Given the description of an element on the screen output the (x, y) to click on. 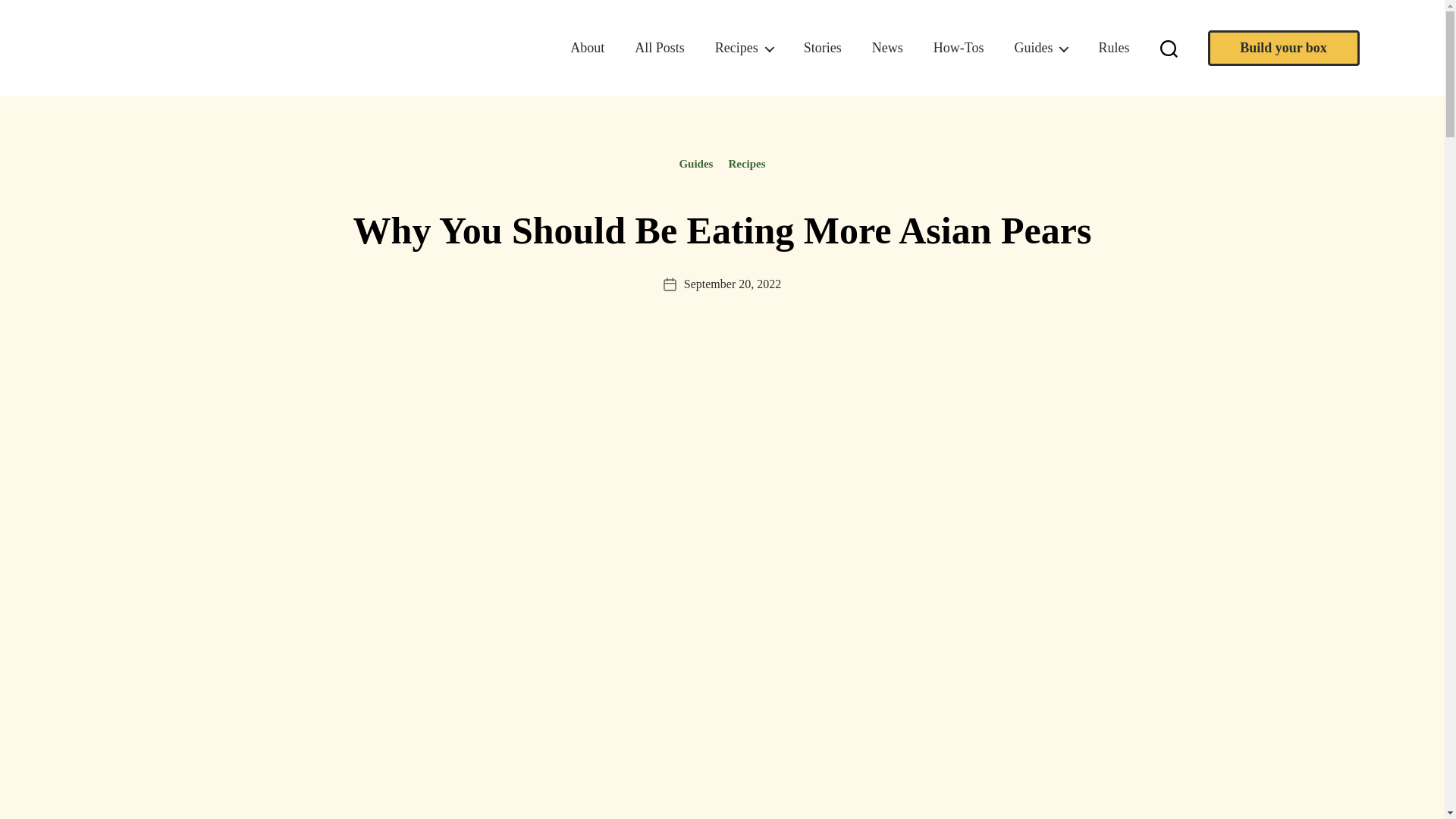
Rules (1113, 48)
logo (164, 48)
Stories (822, 48)
Build your box (1282, 48)
How-Tos (958, 48)
About (587, 48)
All Posts (659, 48)
Recipes (743, 48)
Guides (1040, 48)
News (887, 48)
